Given the description of an element on the screen output the (x, y) to click on. 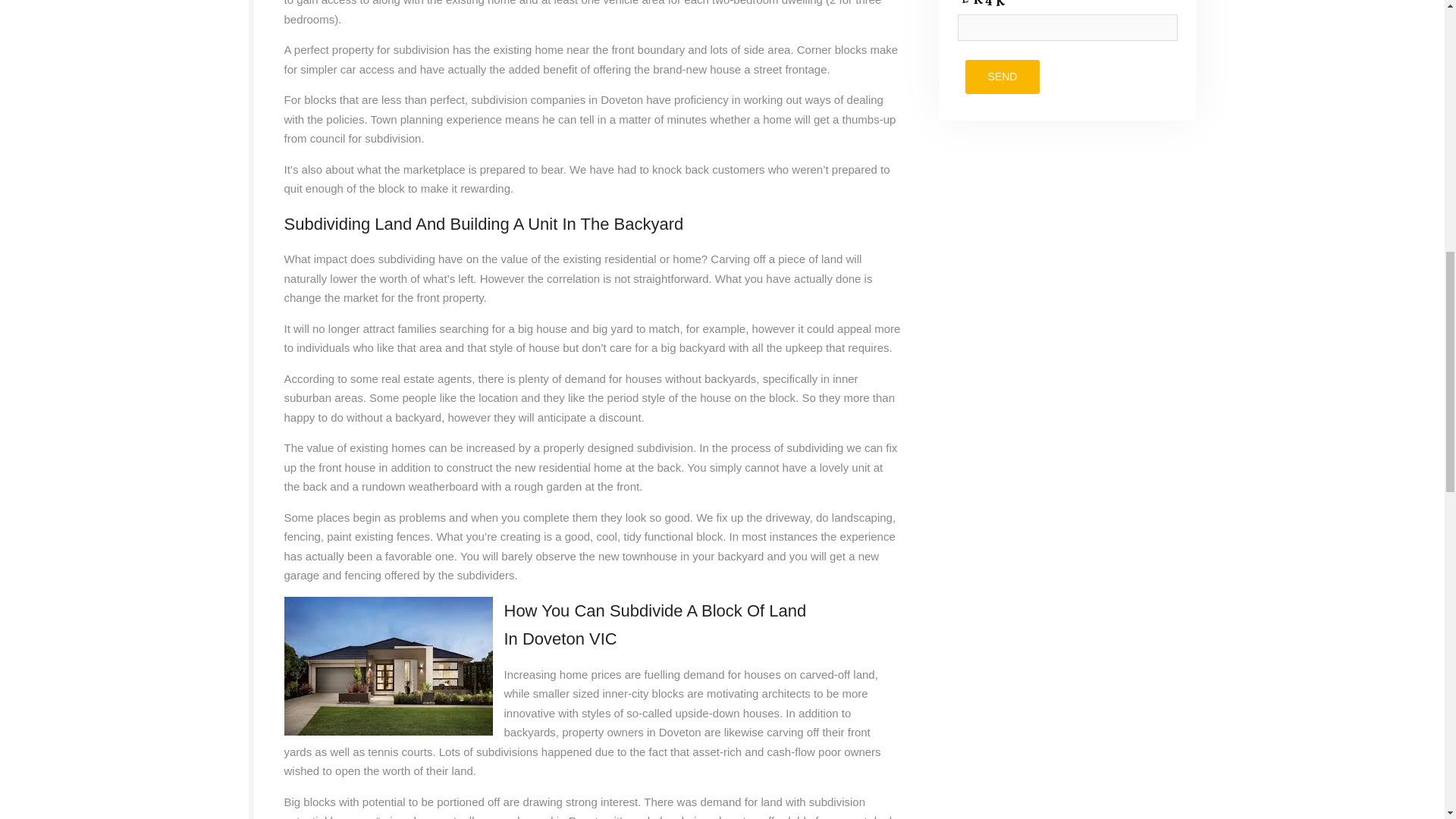
Send (1001, 76)
Send (1001, 76)
